Given the description of an element on the screen output the (x, y) to click on. 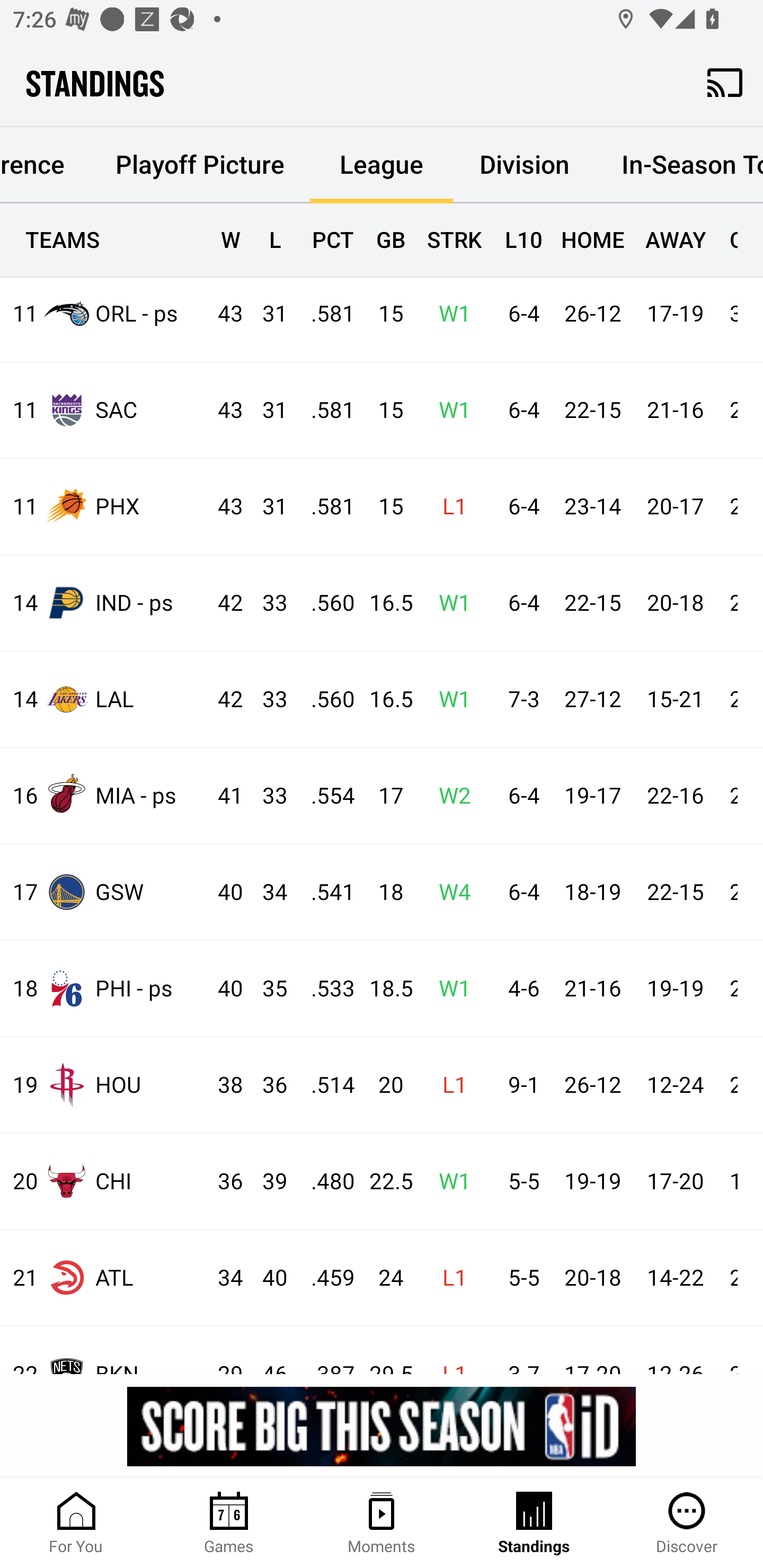
Cast. Disconnected (724, 82)
Playoff Picture (199, 165)
Division (524, 165)
In-Season Tournament (679, 165)
10 NYK - ps (104, 233)
11 ORL - ps (104, 313)
31 (265, 313)
.581 (323, 313)
15 (382, 313)
W1 (449, 313)
6-4 (518, 313)
26-12 (592, 313)
17-19 (675, 313)
11 SAC (104, 409)
31 (265, 410)
.581 (323, 410)
15 (382, 410)
W1 (449, 410)
6-4 (518, 410)
22-15 (592, 410)
21-16 (675, 410)
11 PHX (104, 506)
31 (265, 506)
.581 (323, 506)
15 (382, 506)
L1 (449, 506)
6-4 (518, 506)
23-14 (592, 506)
20-17 (675, 506)
14 IND - ps (104, 602)
33 (265, 602)
.560 (323, 602)
16.5 (382, 602)
W1 (449, 602)
6-4 (518, 602)
22-15 (592, 602)
20-18 (675, 602)
14 LAL (104, 699)
33 (265, 699)
.560 (323, 699)
16.5 (382, 699)
W1 (449, 699)
7-3 (518, 699)
27-12 (592, 699)
15-21 (675, 699)
16 MIA - ps (104, 795)
33 (265, 795)
.554 (323, 795)
17 (382, 795)
W2 (449, 795)
